Given the description of an element on the screen output the (x, y) to click on. 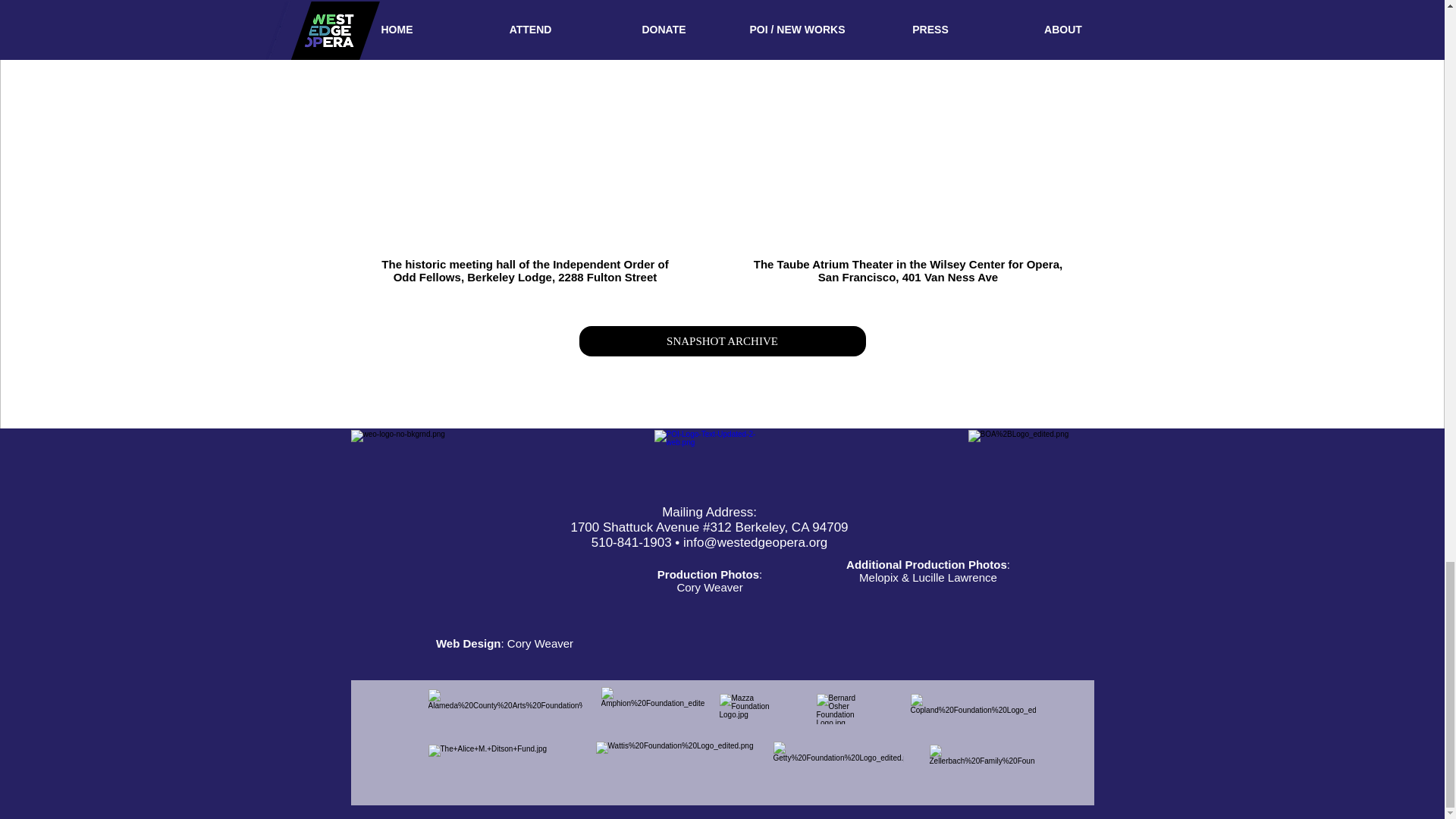
SNAPSHOT ARCHIVE (722, 340)
